Given the description of an element on the screen output the (x, y) to click on. 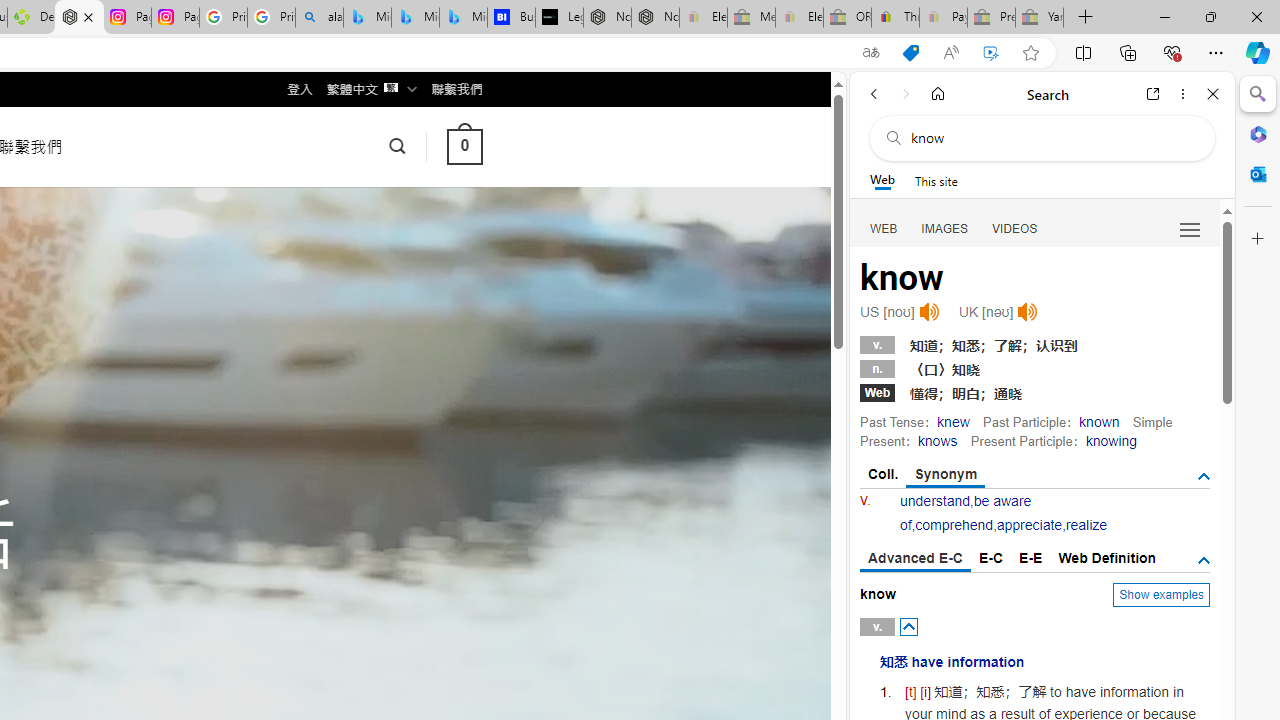
This site has coupons! Shopping in Microsoft Edge (910, 53)
realize (1086, 524)
Click to listen (1027, 312)
known (1099, 421)
